Given the description of an element on the screen output the (x, y) to click on. 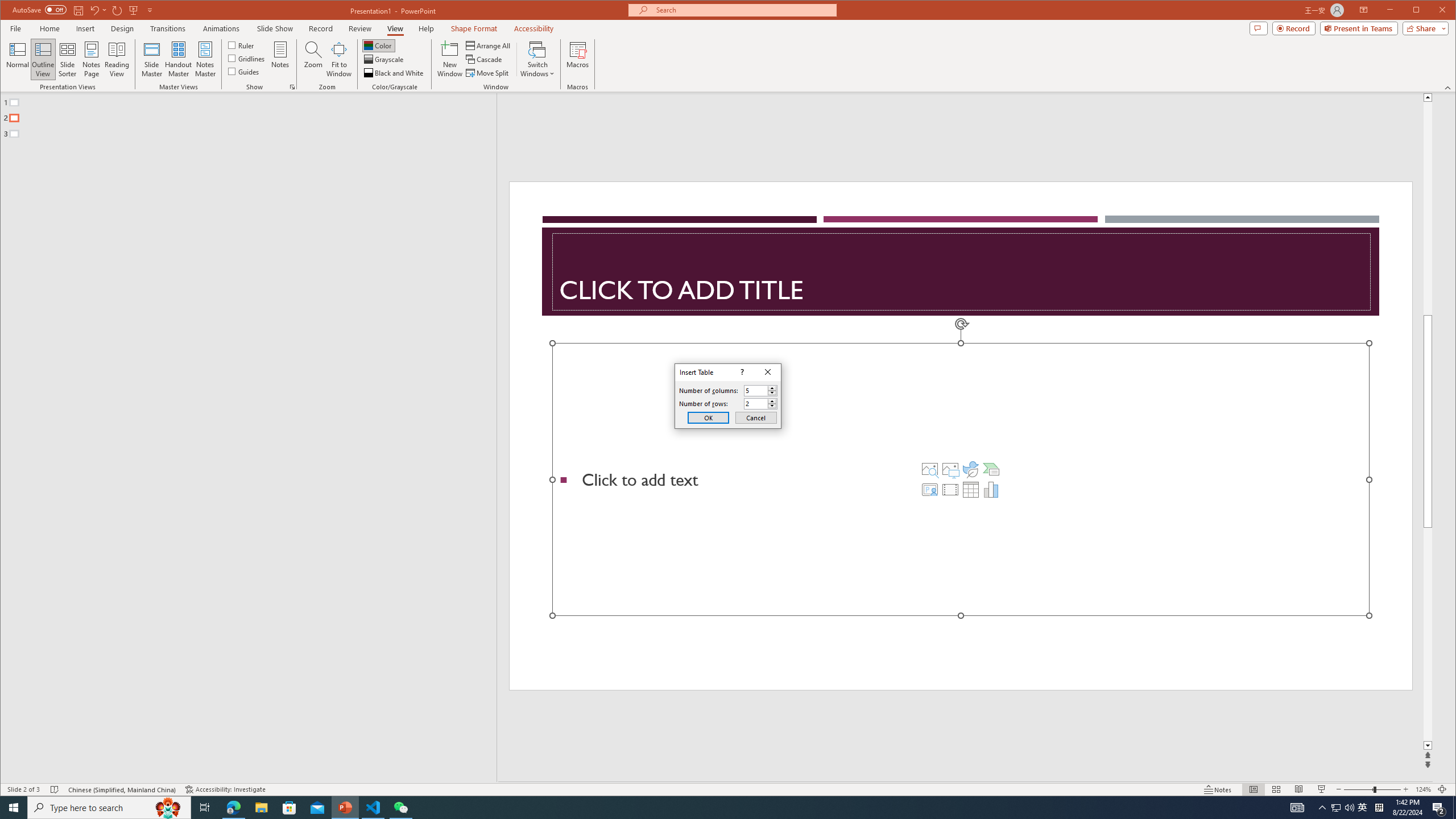
Gridlines (246, 57)
WeChat - 1 running window (400, 807)
Number of columns (760, 390)
Color (378, 45)
Microsoft Store (289, 807)
Action Center, 2 new notifications (1439, 807)
Maximize (1432, 11)
PowerPoint - 1 running window (345, 807)
